Given the description of an element on the screen output the (x, y) to click on. 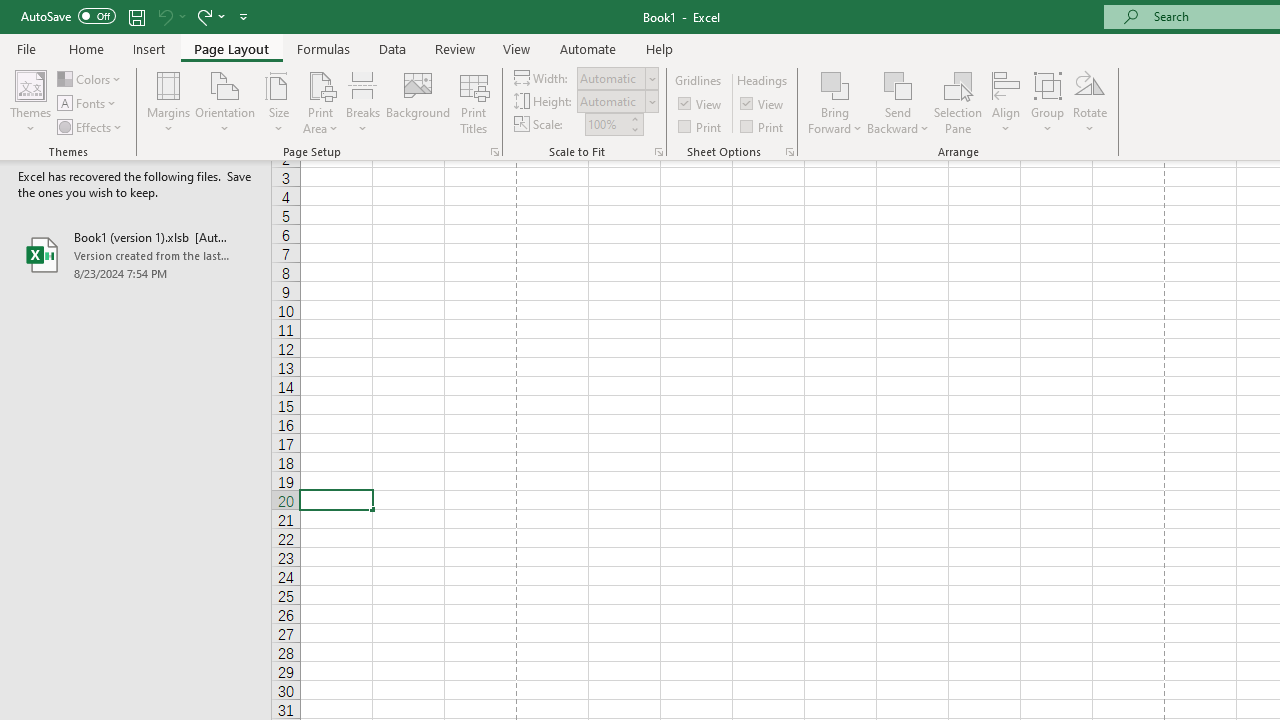
Book1 (version 1).xlsb  [AutoRecovered] (136, 254)
